Given the description of an element on the screen output the (x, y) to click on. 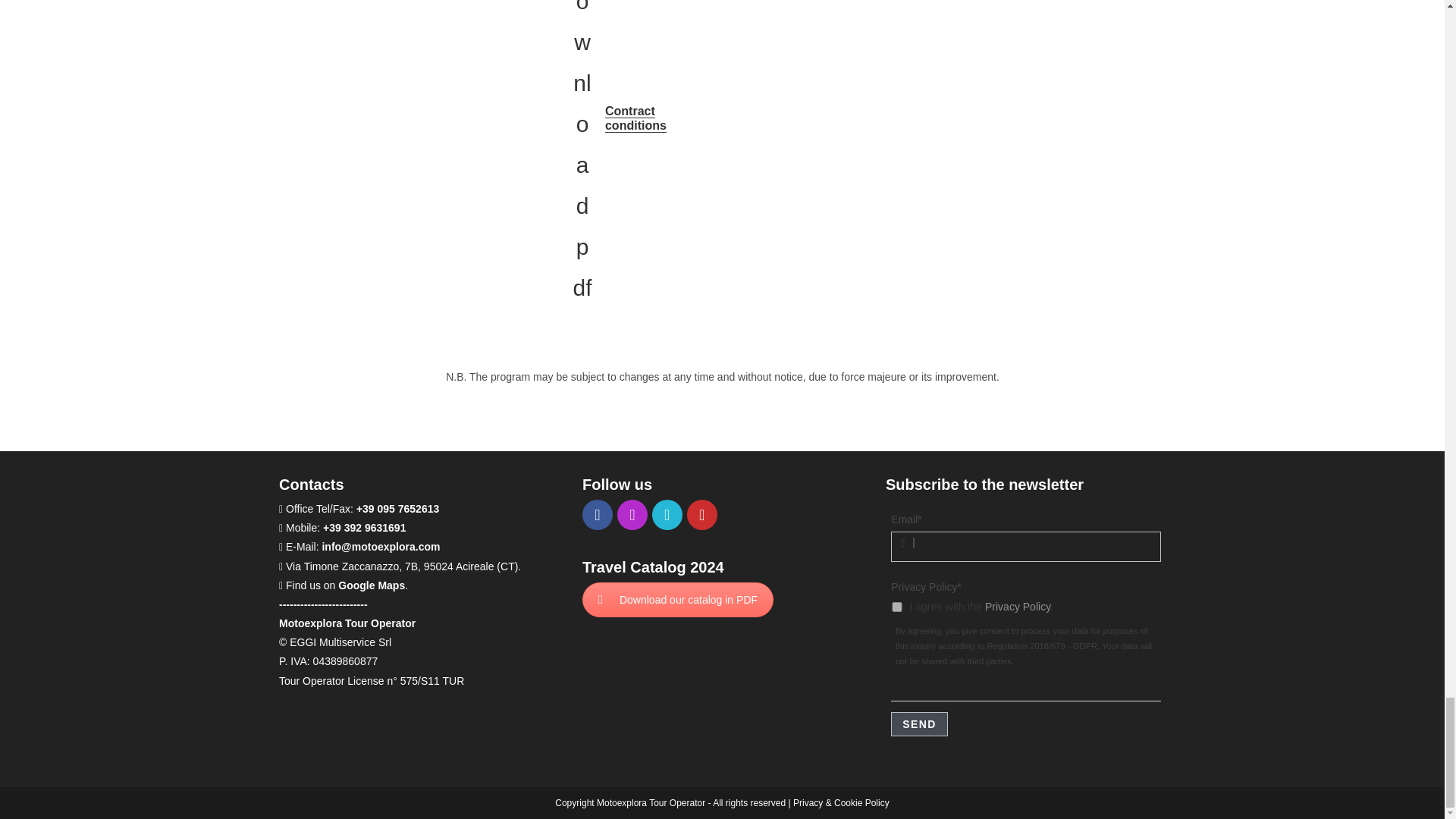
1 (896, 606)
Send (919, 723)
Google Maps (370, 585)
Send (919, 723)
Download our catalog in PDF (677, 599)
Privacy Policy (1017, 606)
